Given the description of an element on the screen output the (x, y) to click on. 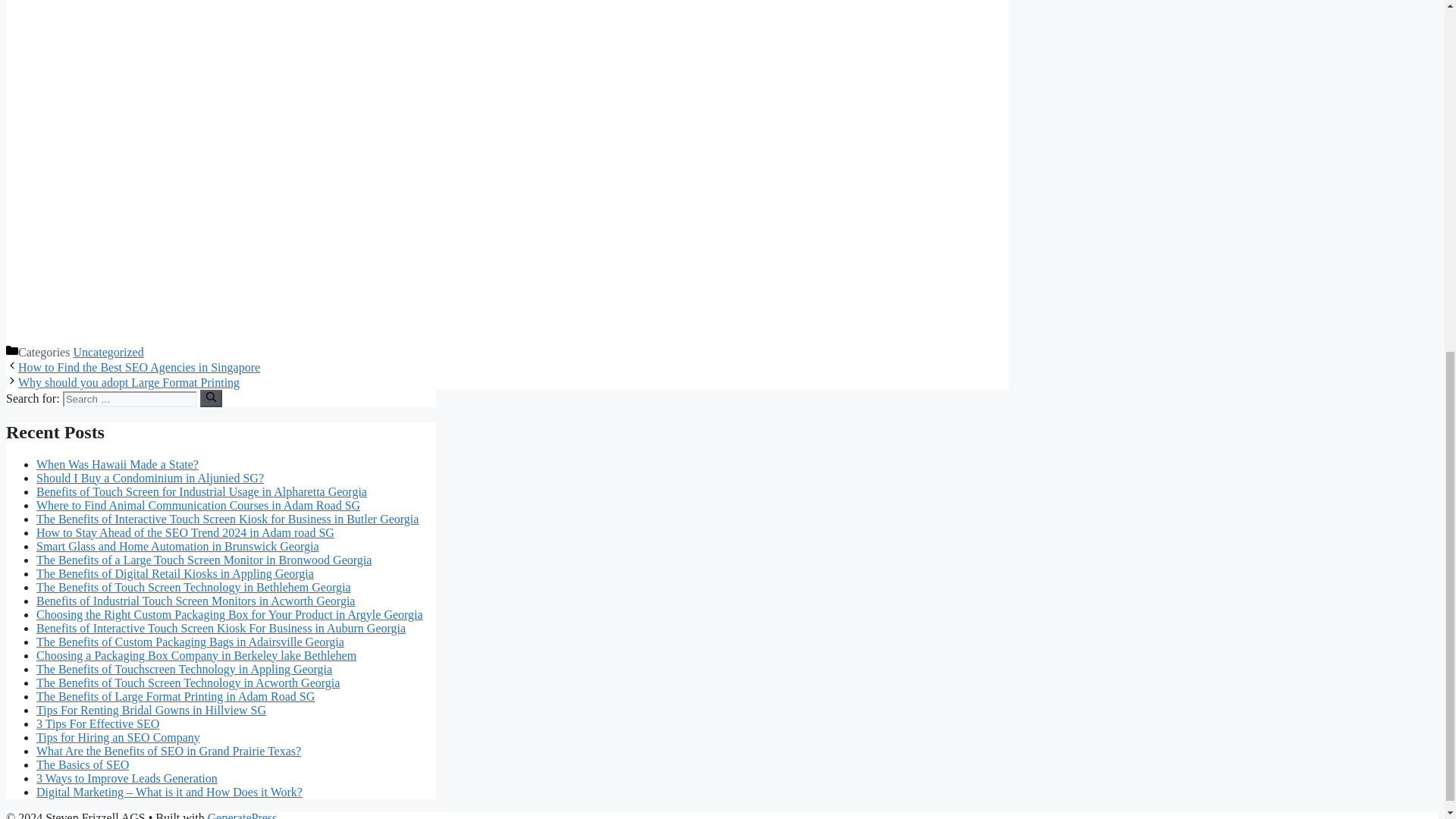
How to Find the Best SEO Agencies in Singapore (138, 367)
The Benefits of Touch Screen Technology in Acworth Georgia (187, 682)
Uncategorized (107, 351)
What Are the Benefits of SEO in Grand Prairie Texas? (168, 750)
Search for: (129, 399)
The Benefits of Touchscreen Technology in Appling Georgia (183, 668)
Tips for Hiring an SEO Company (118, 737)
Where to Find Animal Communication Courses in Adam Road SG (197, 504)
The Benefits of Touch Screen Technology in Bethlehem Georgia (193, 586)
Tips For Renting Bridal Gowns in Hillview SG (151, 709)
Should I Buy a Condominium in Aljunied SG? (149, 477)
